Given the description of an element on the screen output the (x, y) to click on. 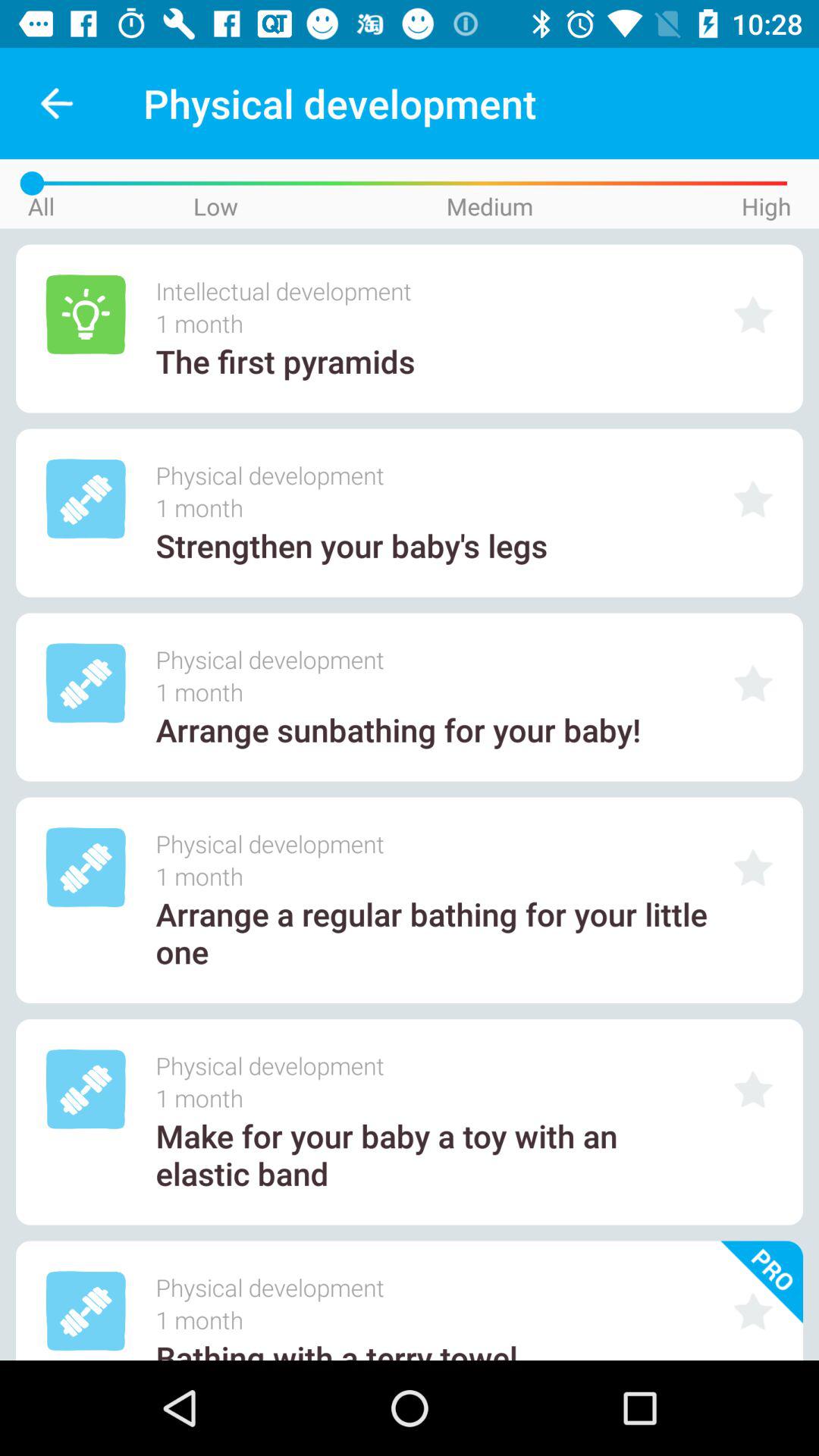
go to rating (753, 314)
